Given the description of an element on the screen output the (x, y) to click on. 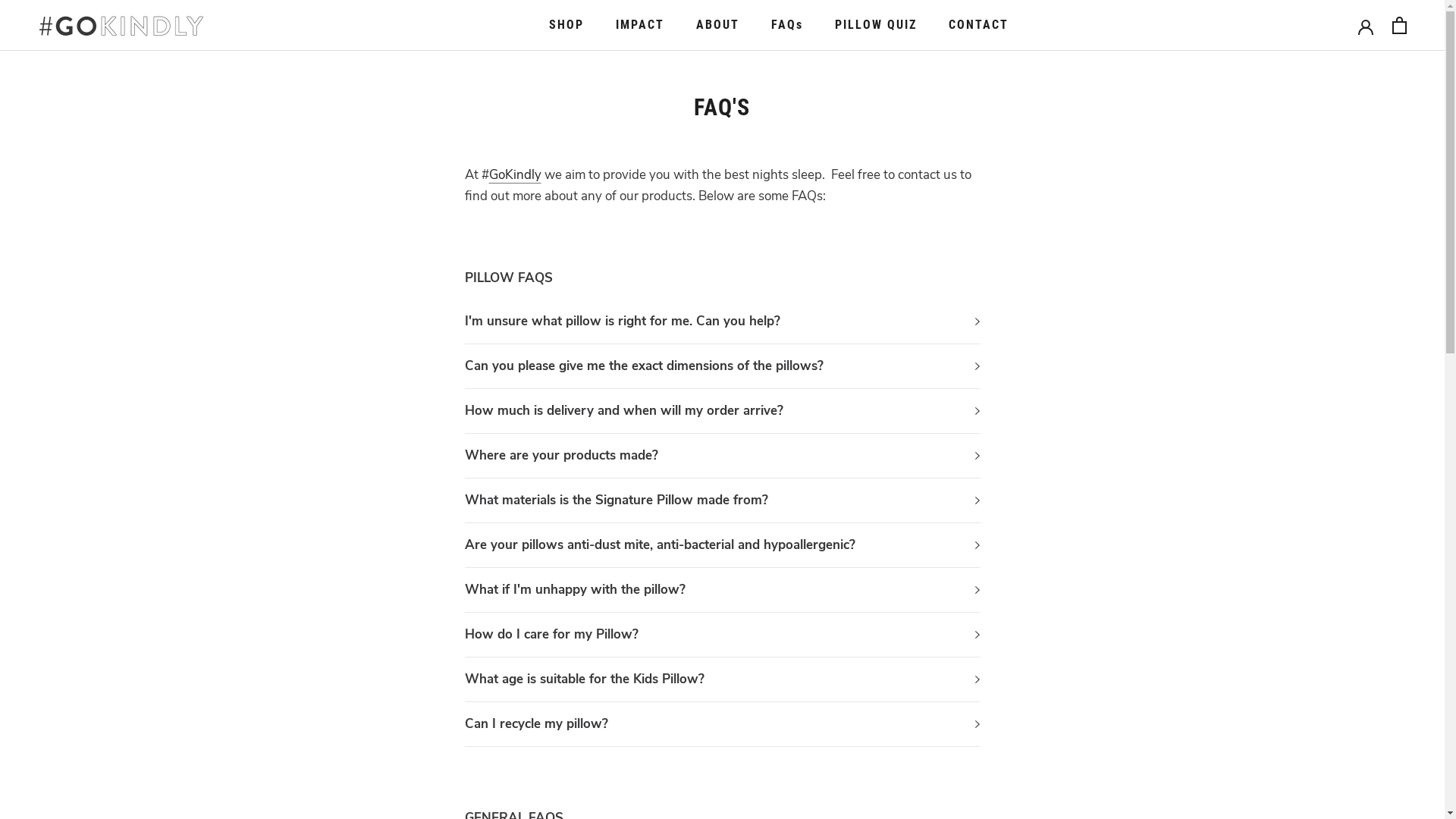
SHOP Element type: text (566, 24)
I'm unsure what pillow is right for me. Can you help? Element type: text (721, 321)
FAQs
FAQs Element type: text (787, 24)
How much is delivery and when will my order arrive? Element type: text (721, 410)
IMPACT
IMPACT Element type: text (639, 24)
How do I care for my Pillow? Element type: text (721, 634)
ABOUT Element type: text (717, 24)
What materials is the Signature Pillow made from? Element type: text (721, 500)
Can you please give me the exact dimensions of the pillows? Element type: text (721, 365)
GoKindly Element type: text (514, 173)
CONTACT
CONTACT Element type: text (978, 24)
Where are your products made? Element type: text (721, 455)
What if I'm unhappy with the pillow? Element type: text (721, 589)
PILLOW QUIZ
PILLOW QUIZ Element type: text (875, 24)
What age is suitable for the Kids Pillow? Element type: text (721, 679)
Can I recycle my pillow? Element type: text (721, 723)
